Given the description of an element on the screen output the (x, y) to click on. 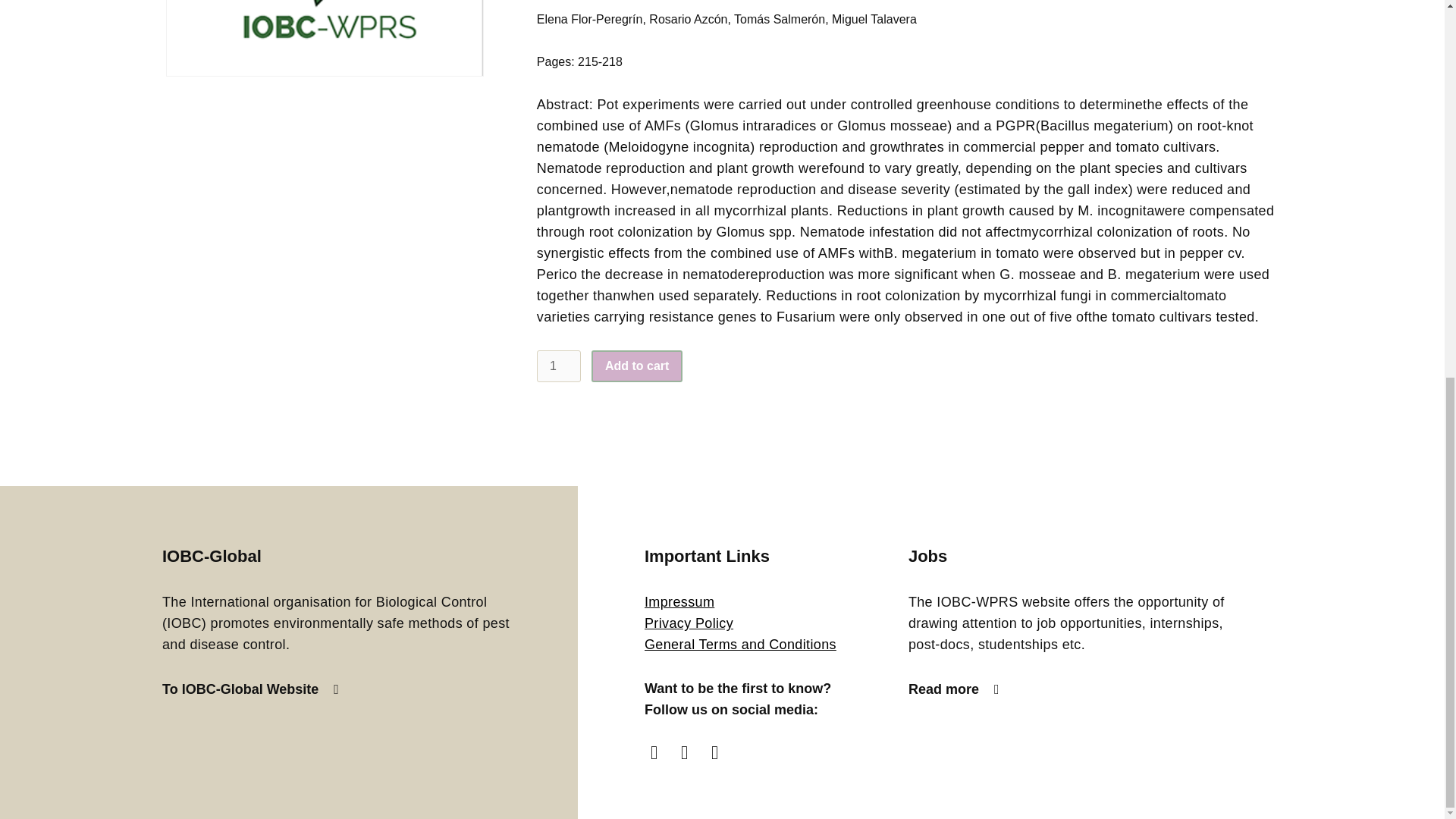
1 (558, 366)
Qty (558, 366)
